Given the description of an element on the screen output the (x, y) to click on. 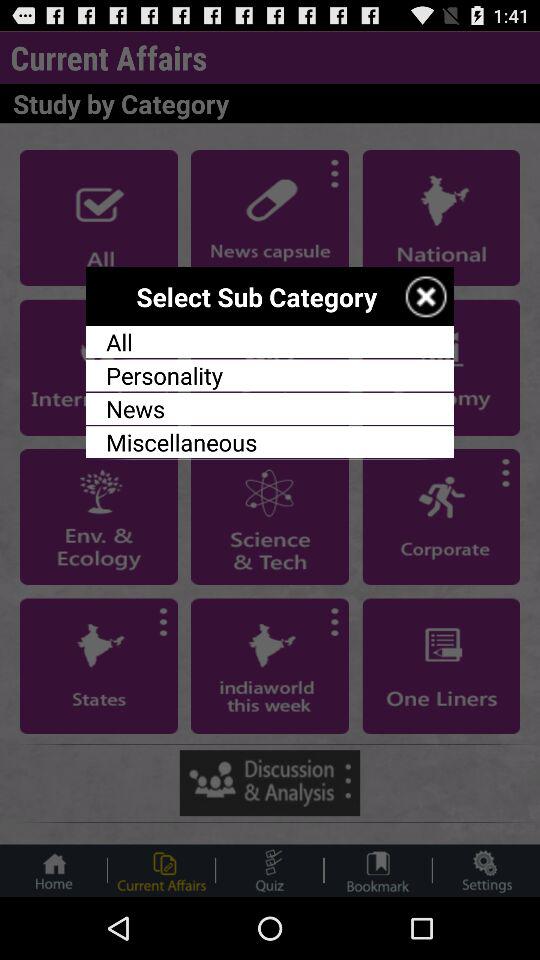
tap the item above the news app (269, 375)
